Given the description of an element on the screen output the (x, y) to click on. 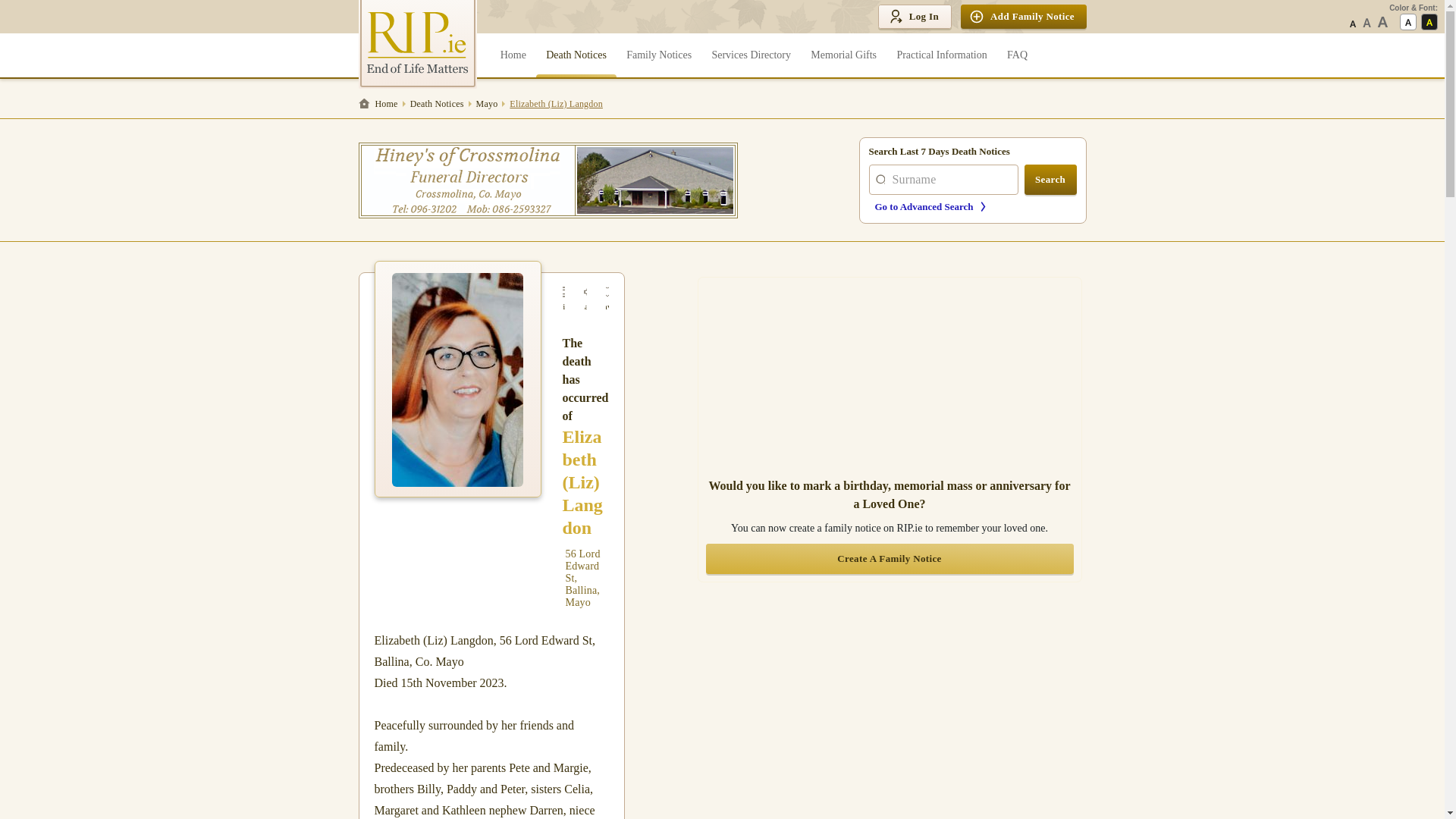
Death Notices (437, 103)
Services Directory (750, 54)
Practical Information (941, 54)
Search (1051, 179)
FAQ (1016, 54)
Home (512, 54)
Memorial Gifts (843, 54)
Add Family Notice (1023, 16)
Family Notices (658, 54)
Death Notices (575, 54)
Go to Advanced Search (976, 206)
Mayo (486, 103)
Log In (913, 16)
Home (380, 103)
